Given the description of an element on the screen output the (x, y) to click on. 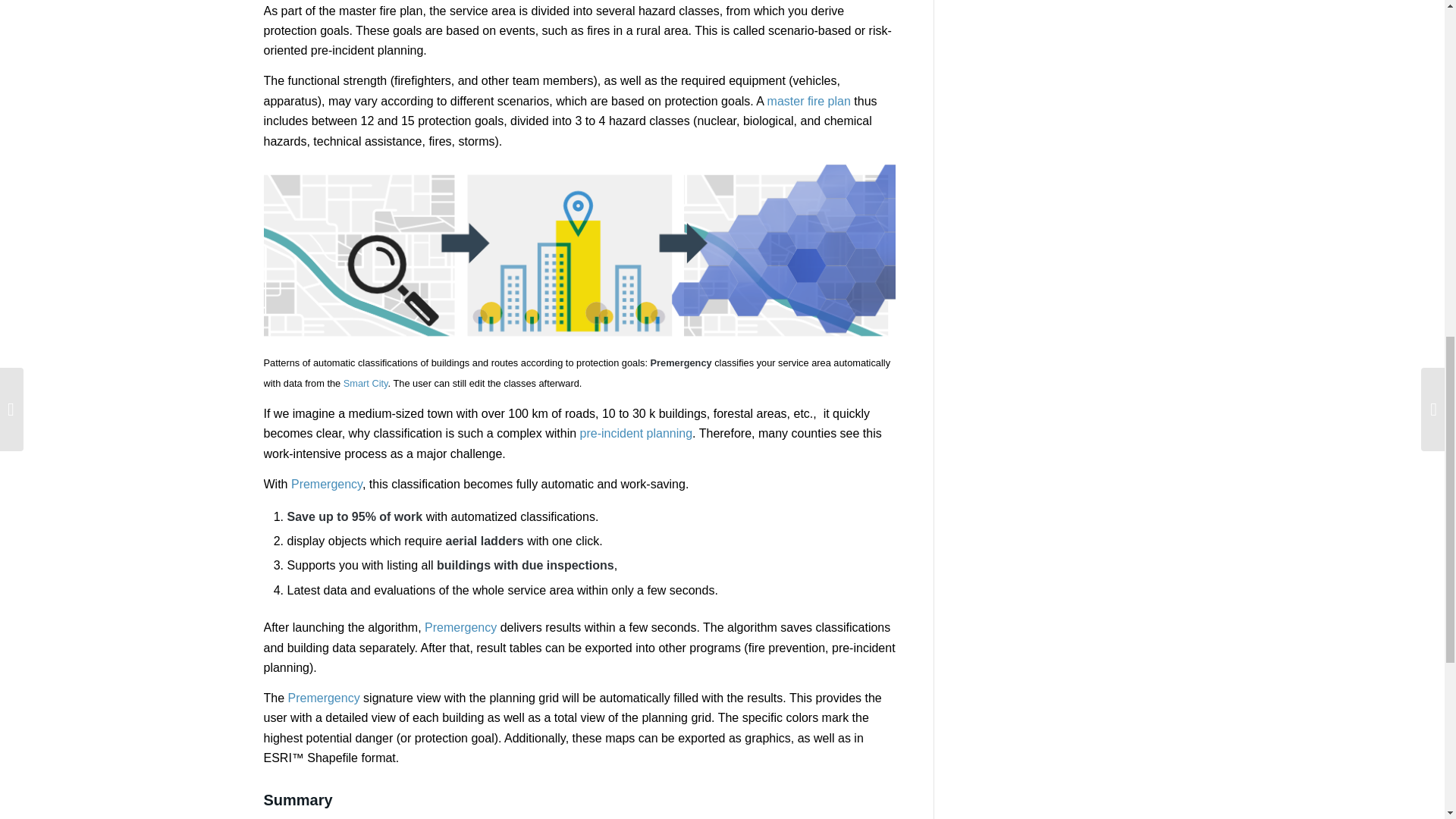
Premergency (460, 626)
Premergency (326, 483)
master fire plan (808, 101)
Smart City (365, 383)
pre-incident planning (636, 432)
Premergency (323, 697)
